Given the description of an element on the screen output the (x, y) to click on. 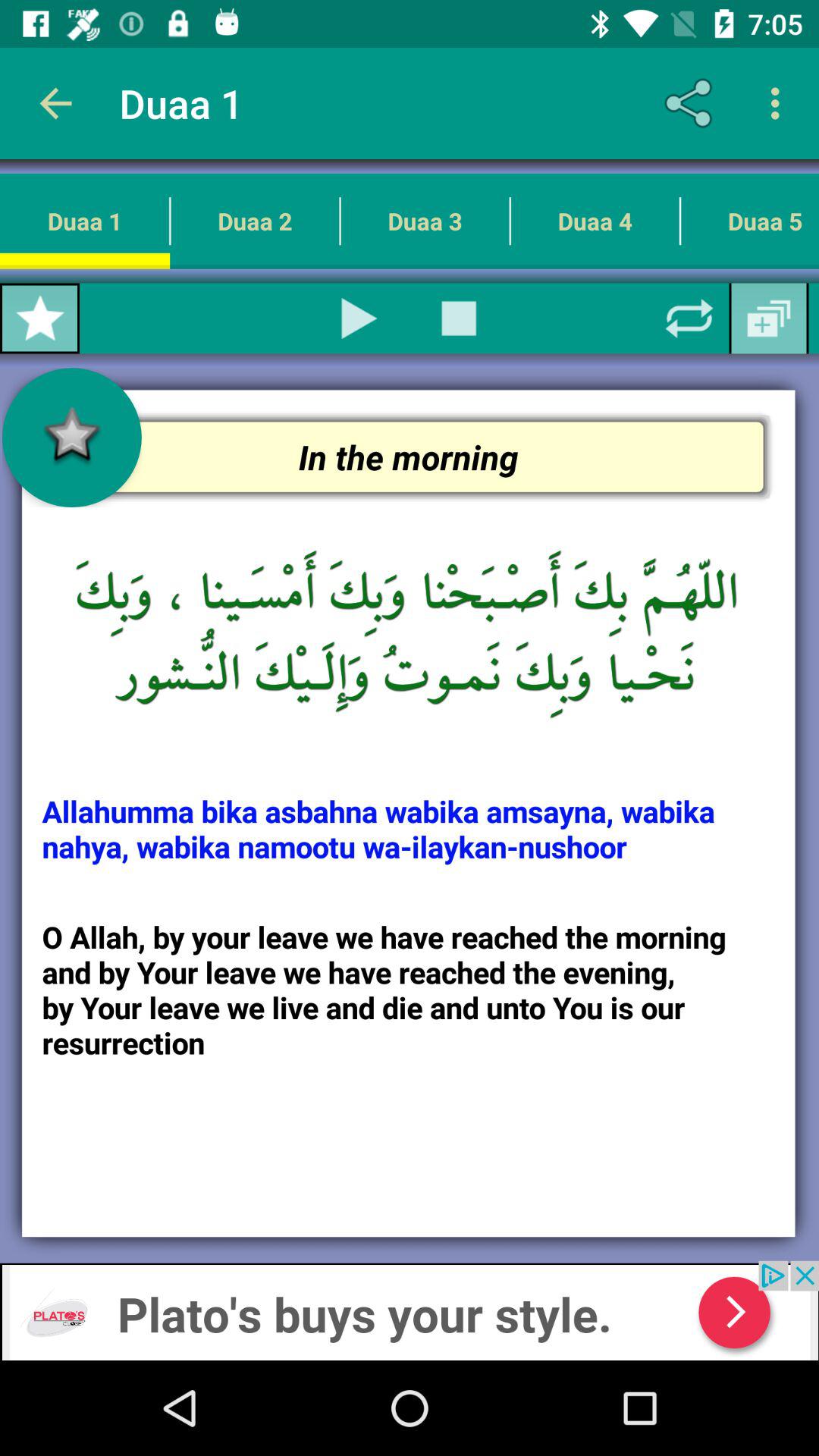
loop playback (689, 318)
